Given the description of an element on the screen output the (x, y) to click on. 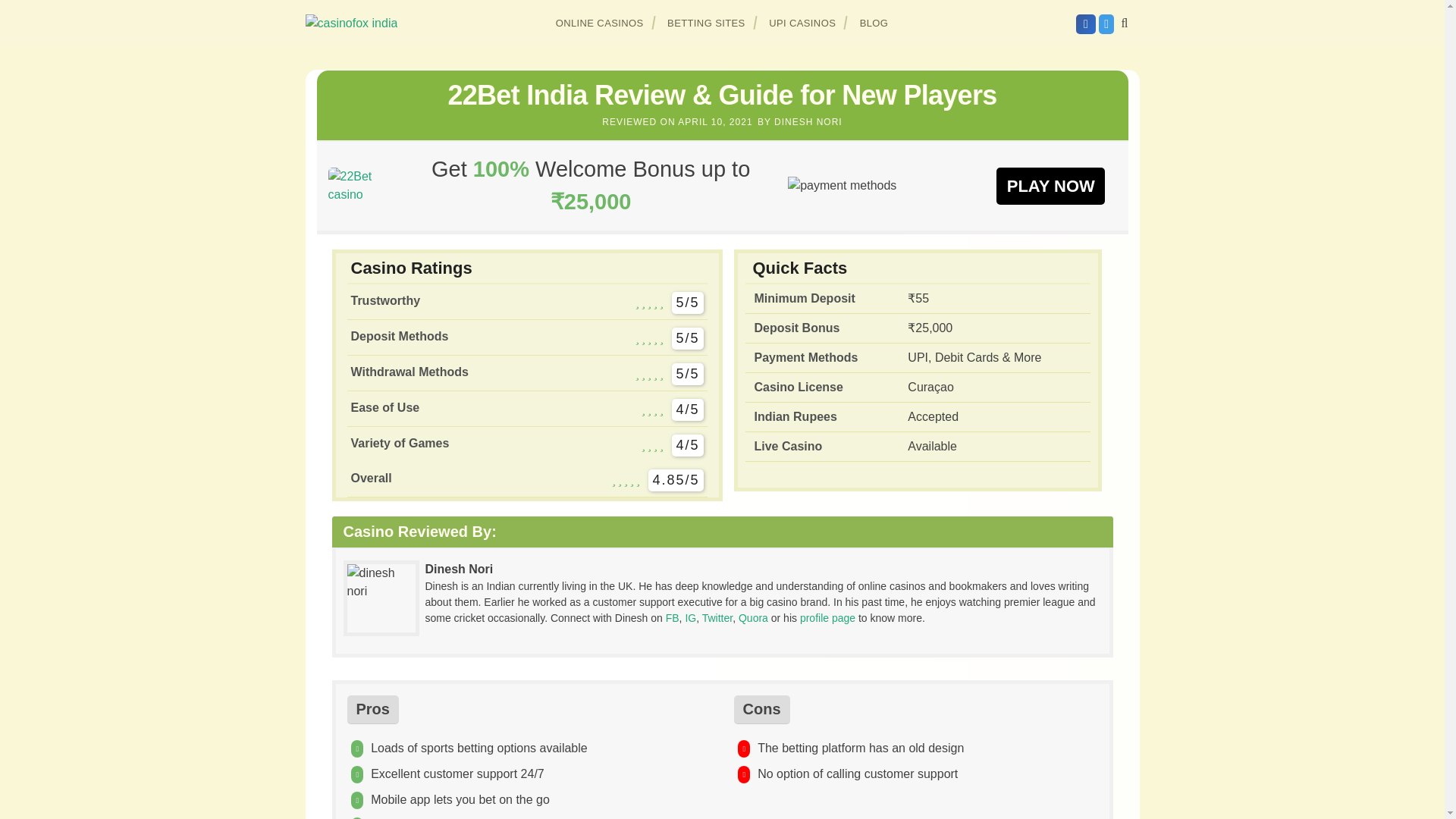
IG (689, 617)
22Bet (1050, 185)
profile page (827, 617)
PLAY NOW (1050, 185)
BETTING SITES (706, 23)
22Bet (360, 185)
BLOG (874, 23)
FB (672, 617)
ONLINE CASINOS (599, 23)
Quora (753, 617)
Twitter (716, 617)
UPI CASINOS (801, 23)
